Given the description of an element on the screen output the (x, y) to click on. 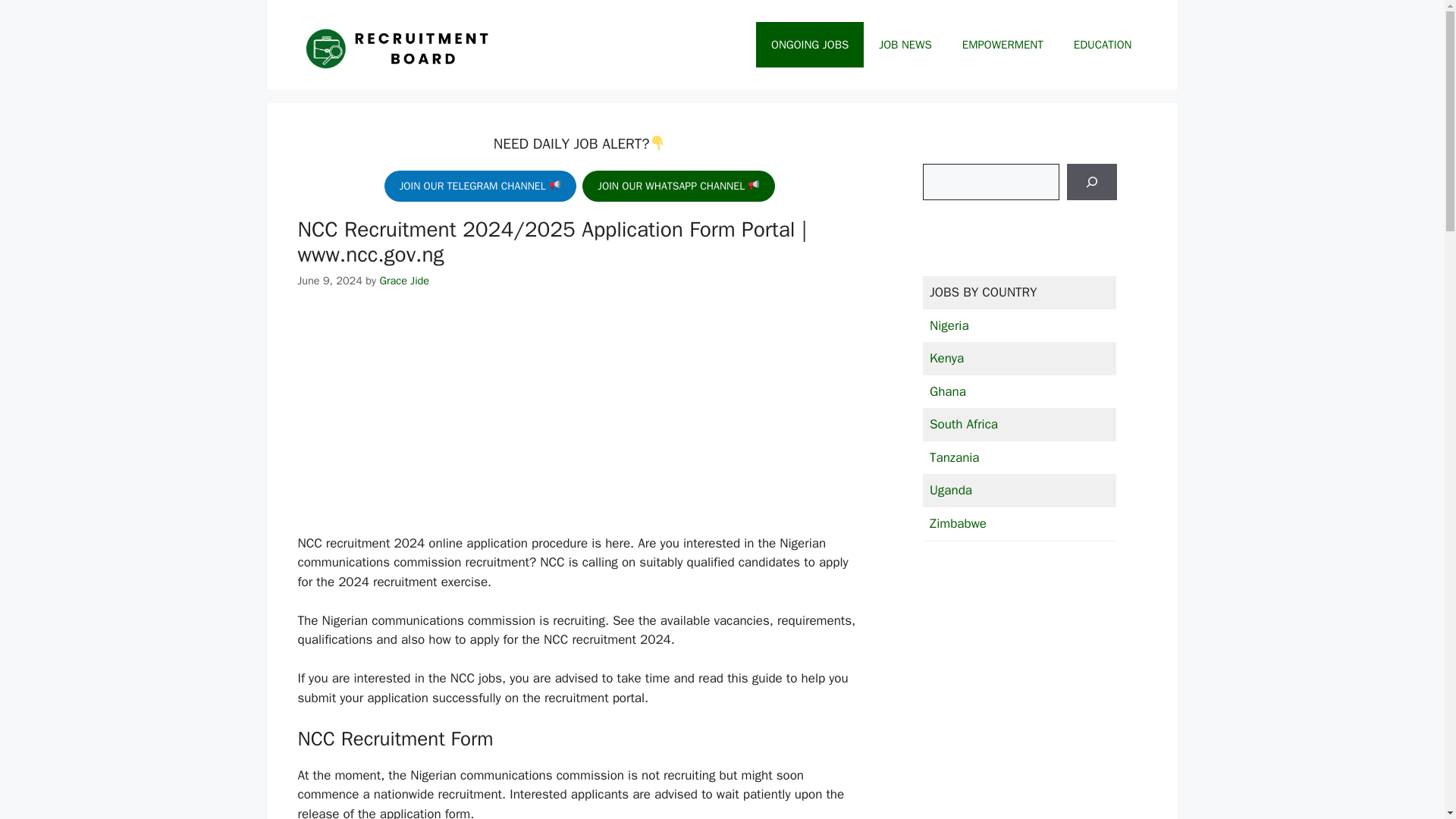
Advertisement (579, 421)
ONGOING JOBS (809, 44)
JOIN OUR WHATSAPP CHANNEL (678, 185)
South Africa (963, 424)
Tanzania (954, 457)
Grace Jide (403, 280)
Ghana (948, 391)
Zimbabwe (958, 523)
Advertisement (1018, 718)
EMPOWERMENT (1002, 44)
EDUCATION (1102, 44)
JOIN OUR TELEGRAM CHANNEL (480, 185)
View all posts by Grace Jide (403, 280)
Kenya (946, 358)
Nigeria (949, 325)
